Given the description of an element on the screen output the (x, y) to click on. 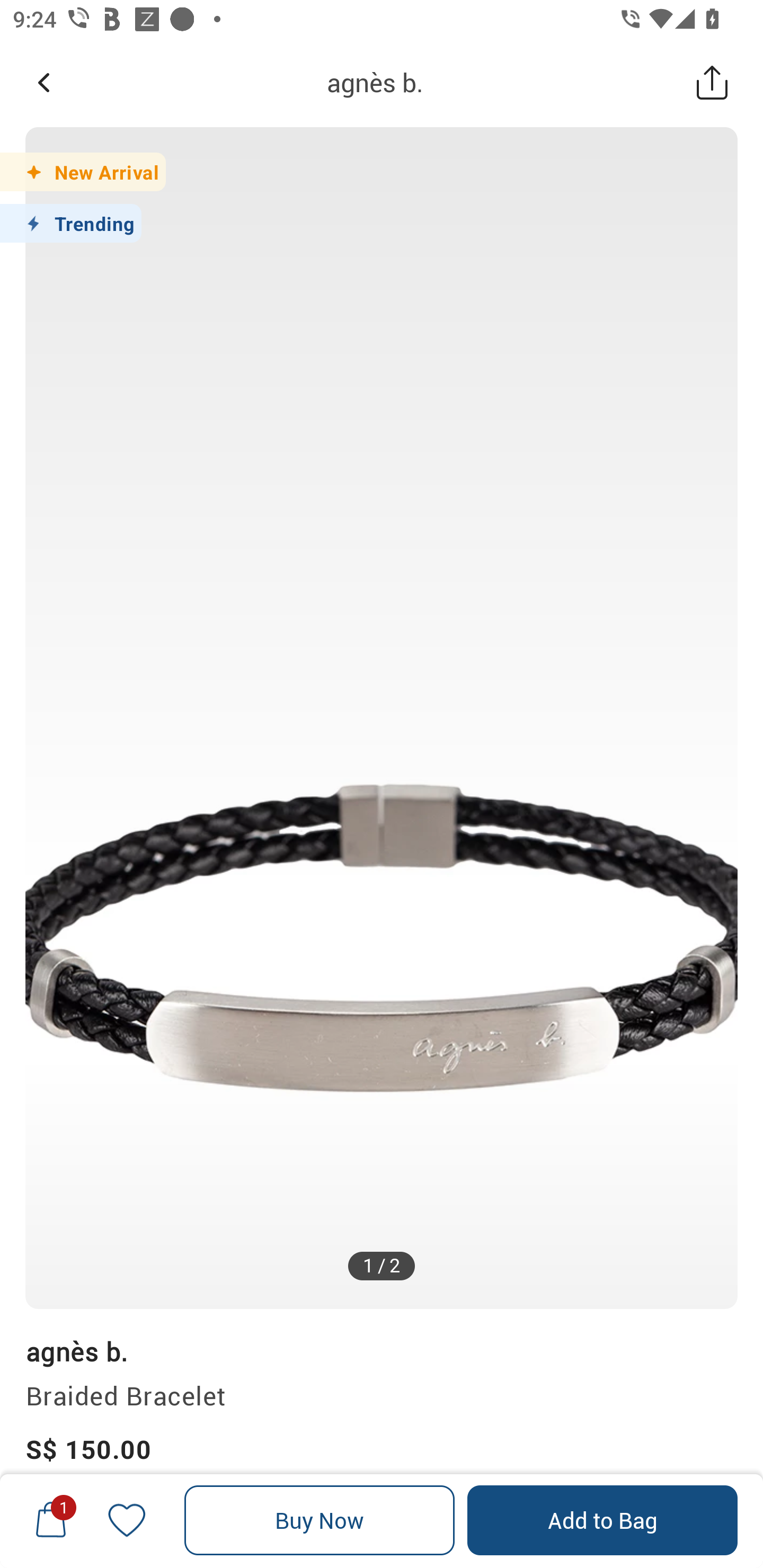
agnès b. (375, 82)
Share this Product (711, 82)
agnès b. (76, 1351)
Buy Now (319, 1519)
Add to Bag (601, 1519)
1 (50, 1520)
